Given the description of an element on the screen output the (x, y) to click on. 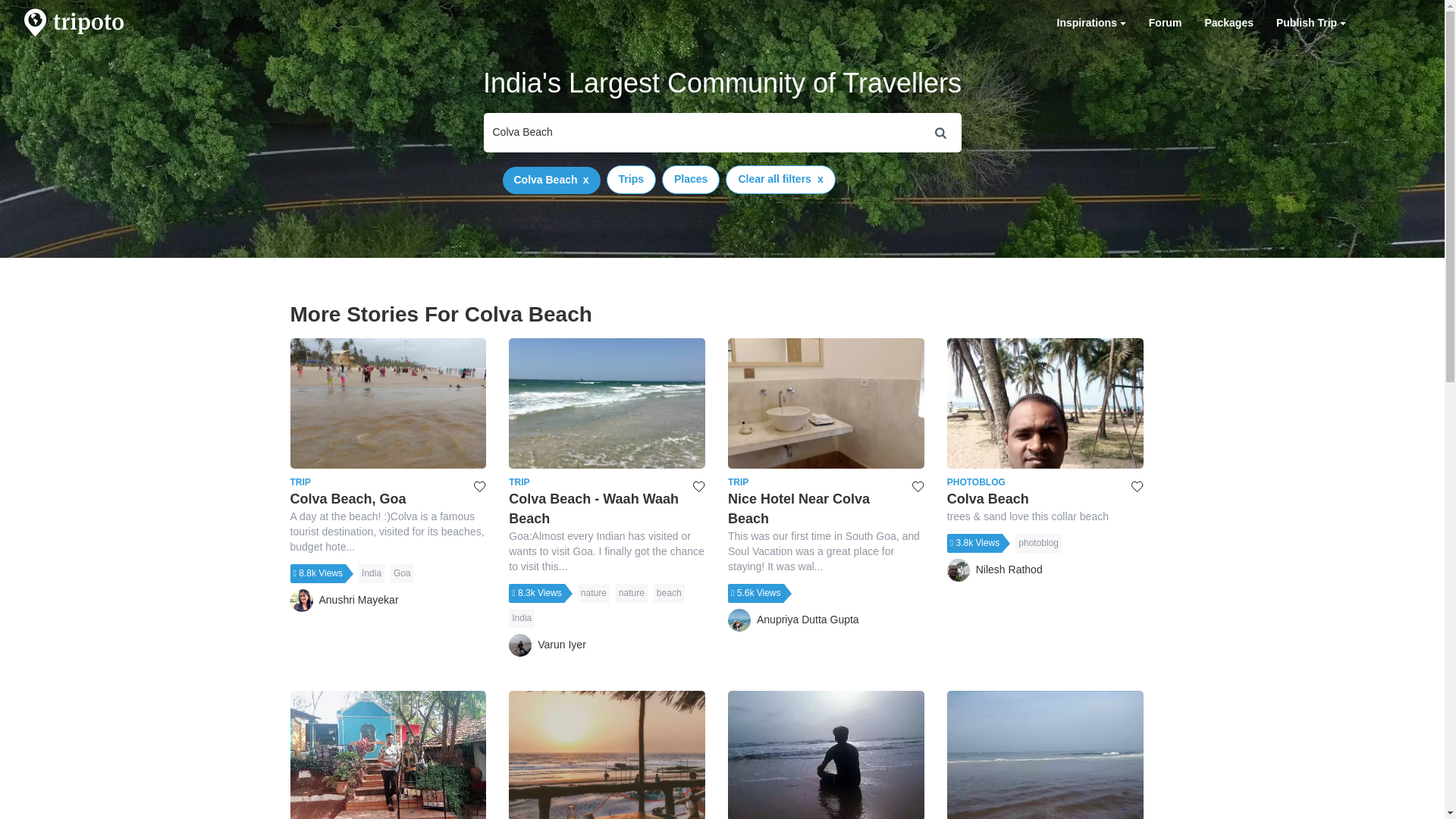
beach (668, 592)
India (521, 618)
Forum (1165, 22)
Publish Trip (1310, 22)
Publish Trip  (1310, 22)
Packages (1228, 22)
Varun Iyer (547, 644)
Goa (401, 573)
photoblog (1037, 542)
